Given the description of an element on the screen output the (x, y) to click on. 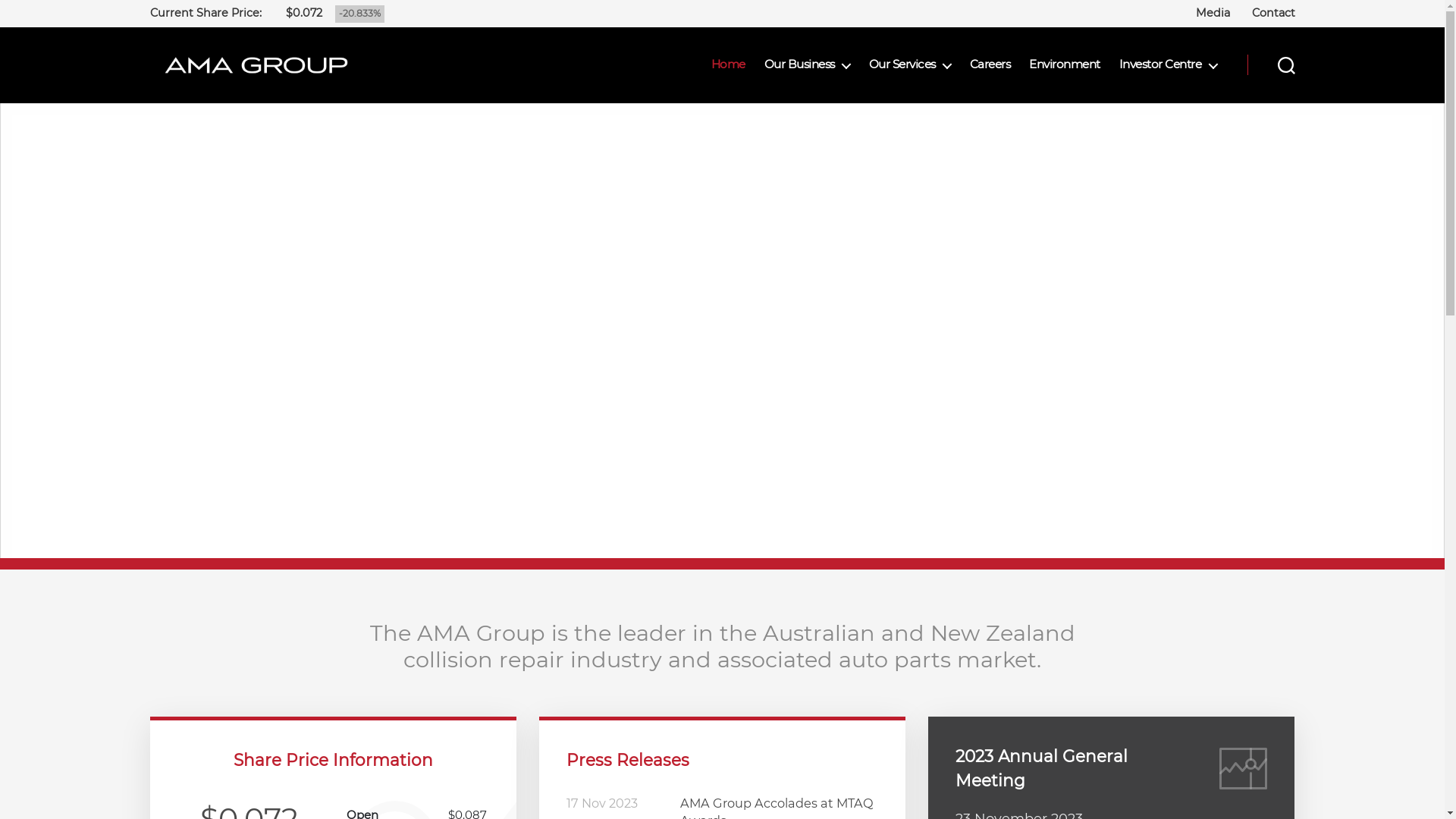
Our Services Element type: text (909, 64)
Investor Centre Element type: text (1168, 64)
Media Element type: text (1212, 12)
Contact Element type: text (1272, 12)
Environment Element type: text (1064, 64)
Home Element type: text (728, 64)
Careers Element type: text (989, 64)
Our Business Element type: text (807, 64)
